Given the description of an element on the screen output the (x, y) to click on. 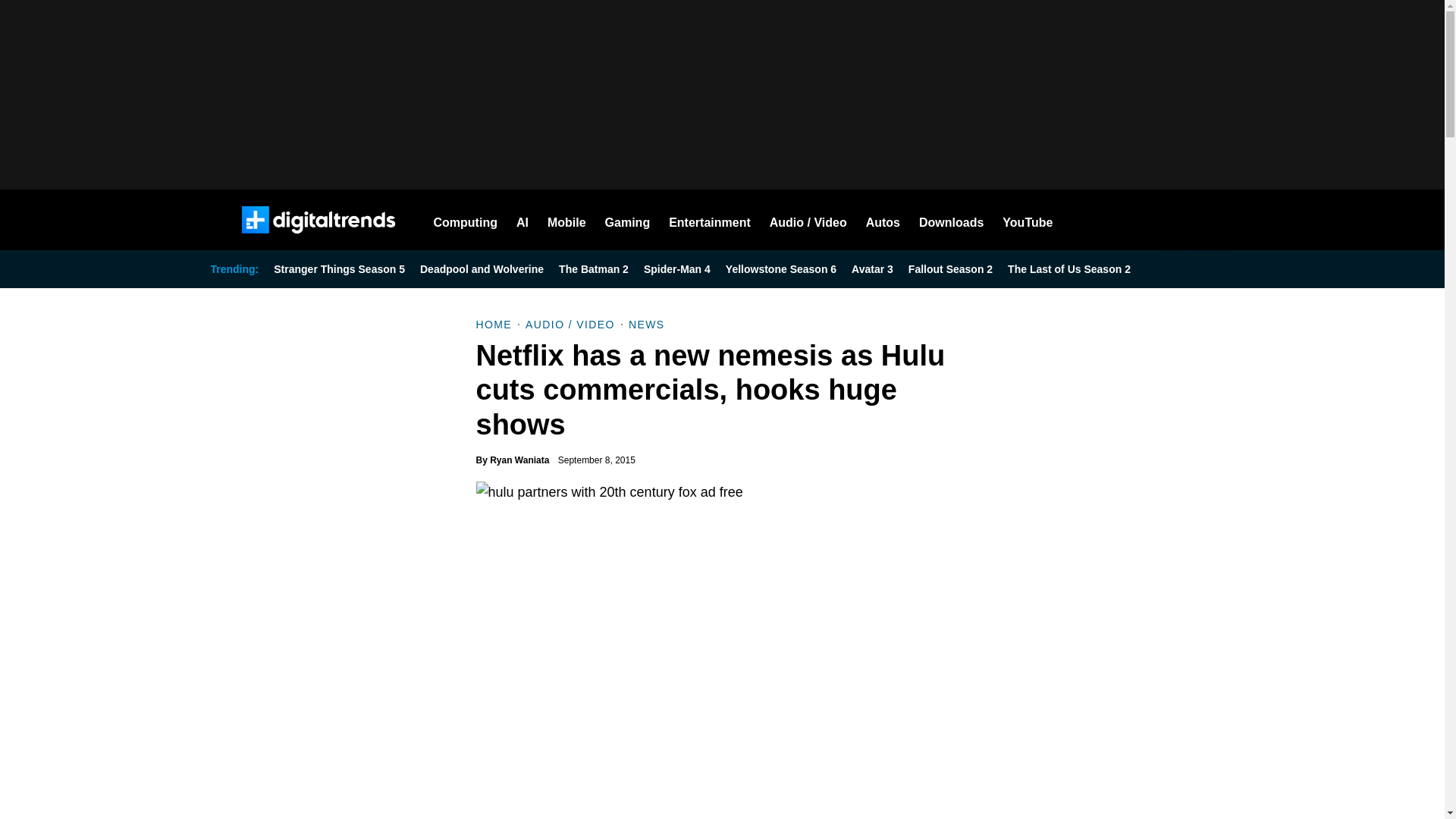
Computing (465, 219)
Entertainment (709, 219)
Downloads (951, 219)
